Given the description of an element on the screen output the (x, y) to click on. 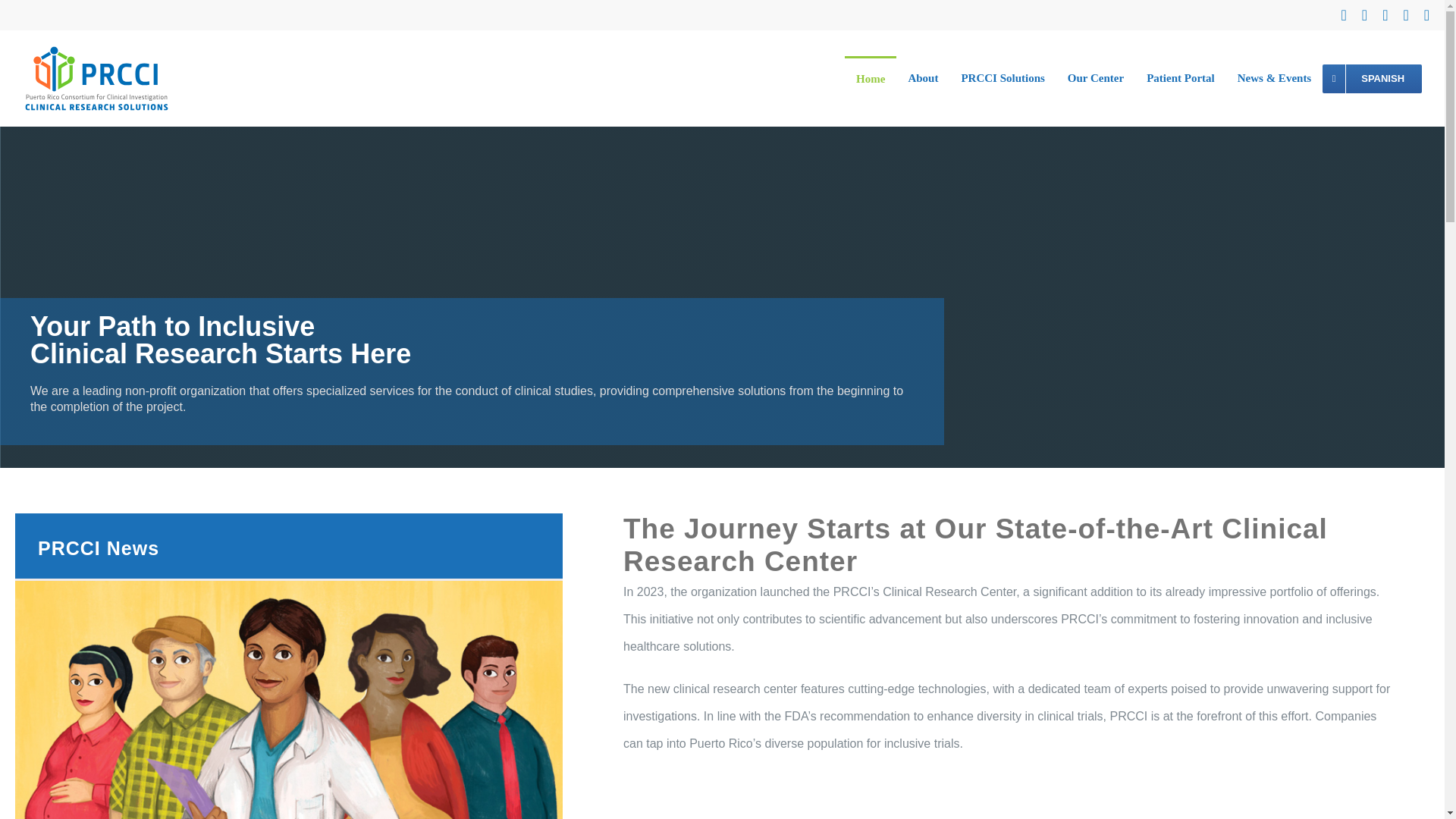
Patient Portal (1180, 78)
About (922, 78)
SPANISH (1372, 78)
Home (870, 78)
Our Center (1096, 78)
PRCCI Solutions (1002, 78)
